Given the description of an element on the screen output the (x, y) to click on. 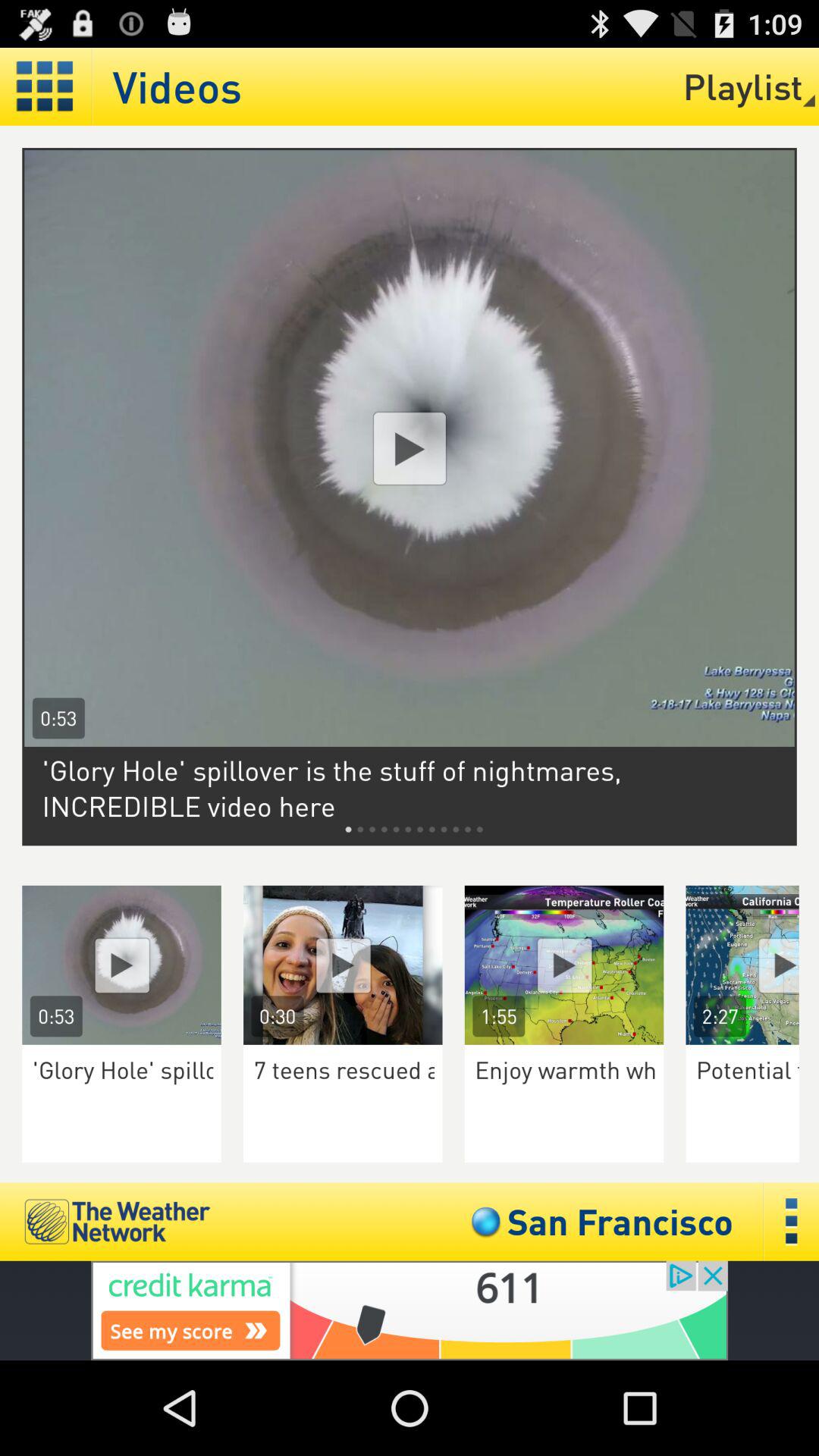
you tube option (121, 964)
